Given the description of an element on the screen output the (x, y) to click on. 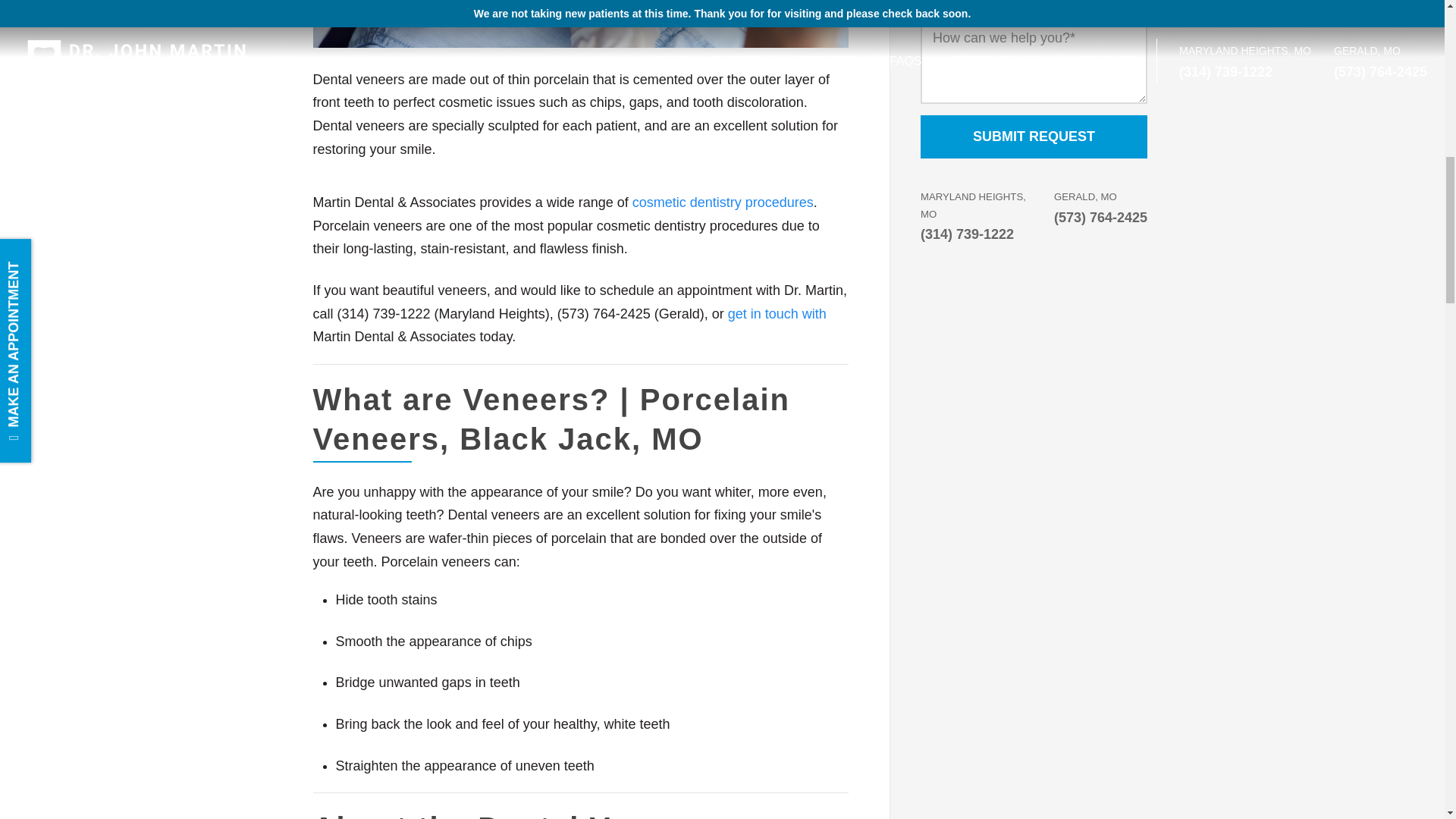
Submit Request (1033, 136)
get in touch with (777, 313)
cosmetic dentistry procedures (722, 201)
